Given the description of an element on the screen output the (x, y) to click on. 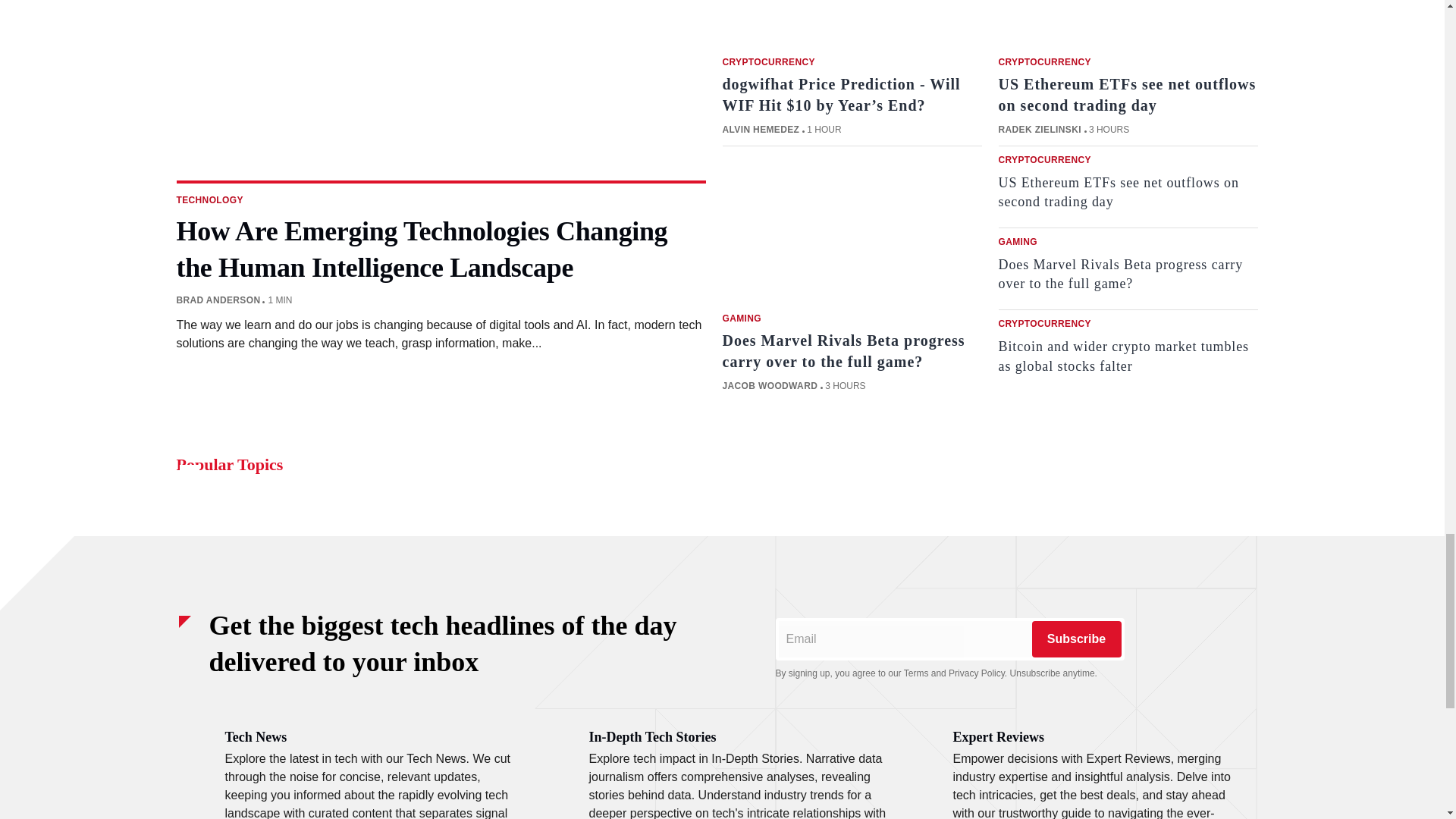
Subscribe (1075, 638)
